Given the description of an element on the screen output the (x, y) to click on. 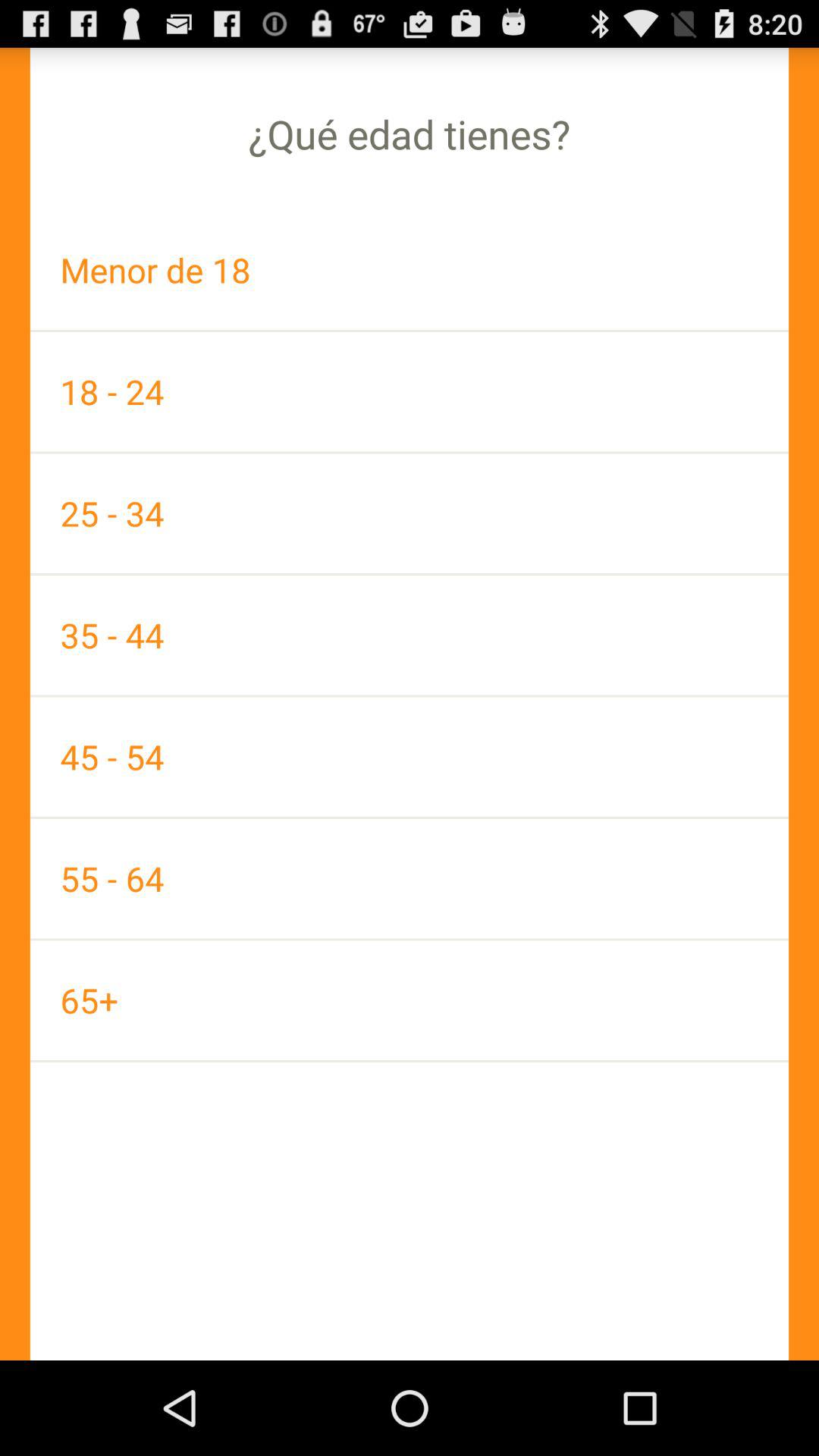
turn off the item above 45 - 54 app (409, 635)
